Given the description of an element on the screen output the (x, y) to click on. 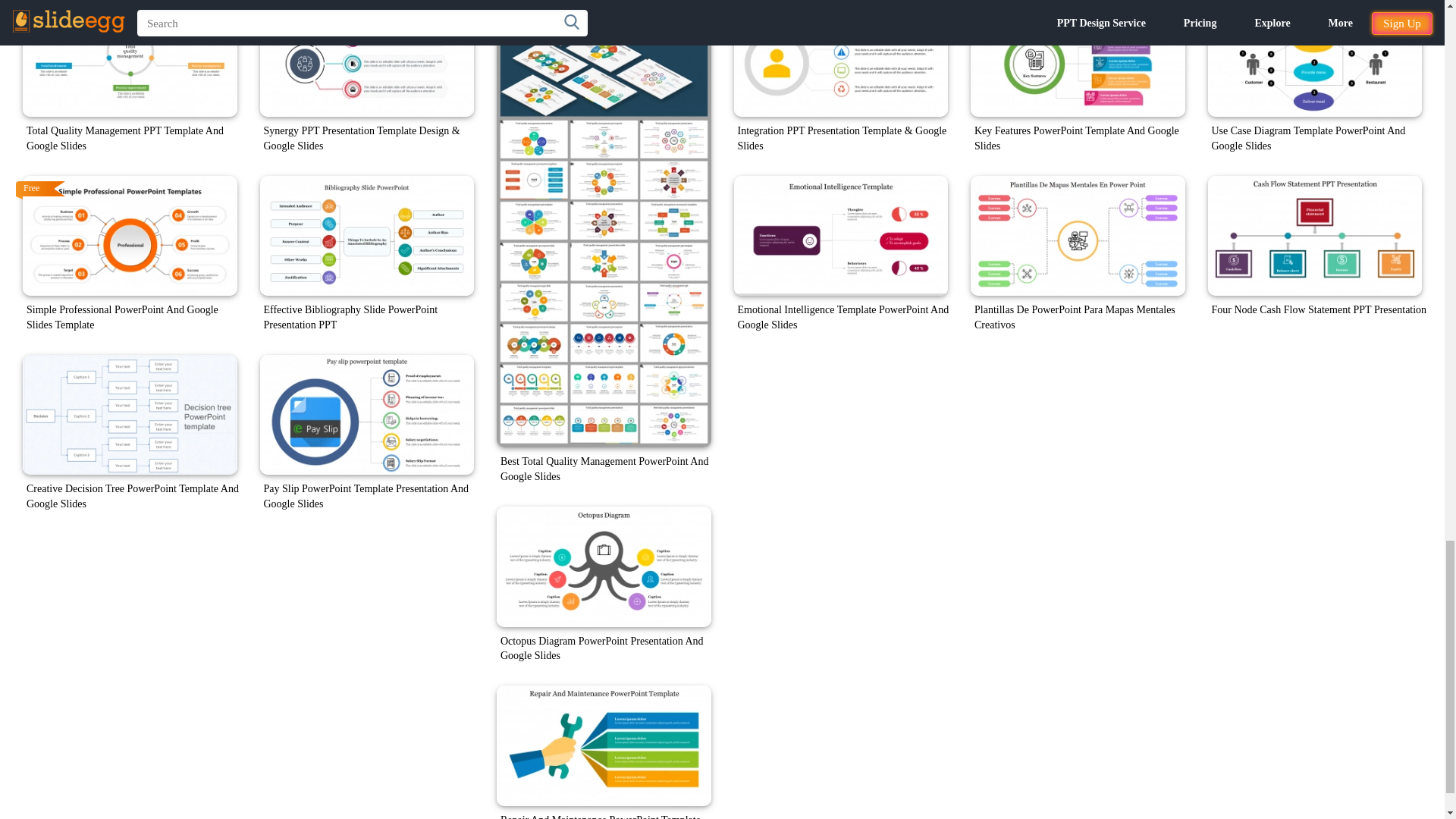
Octopus Diagram PowerPoint Presentation and Google Slides (603, 566)
Key Features PowerPoint Template and Google Slides (1078, 58)
Pay Slip PowerPoint Template Presentation and Google Slides (366, 414)
Simple Professional PowerPoint And Google Slides Template (130, 236)
Emotional Intelligence Template PowerPoint and Google Slides (841, 236)
Total Quality Management PPT Template and Google Slides (130, 58)
Creative Decision Tree PowerPoint Template and Google Slides (130, 414)
Effective Bibliography Slide PowerPoint Presentation PPT (366, 236)
Repair and Maintenance PowerPoint Template and Google Slides (603, 745)
Plantillas De PowerPoint Para Mapas Mentales Creativos (1078, 236)
